Given the description of an element on the screen output the (x, y) to click on. 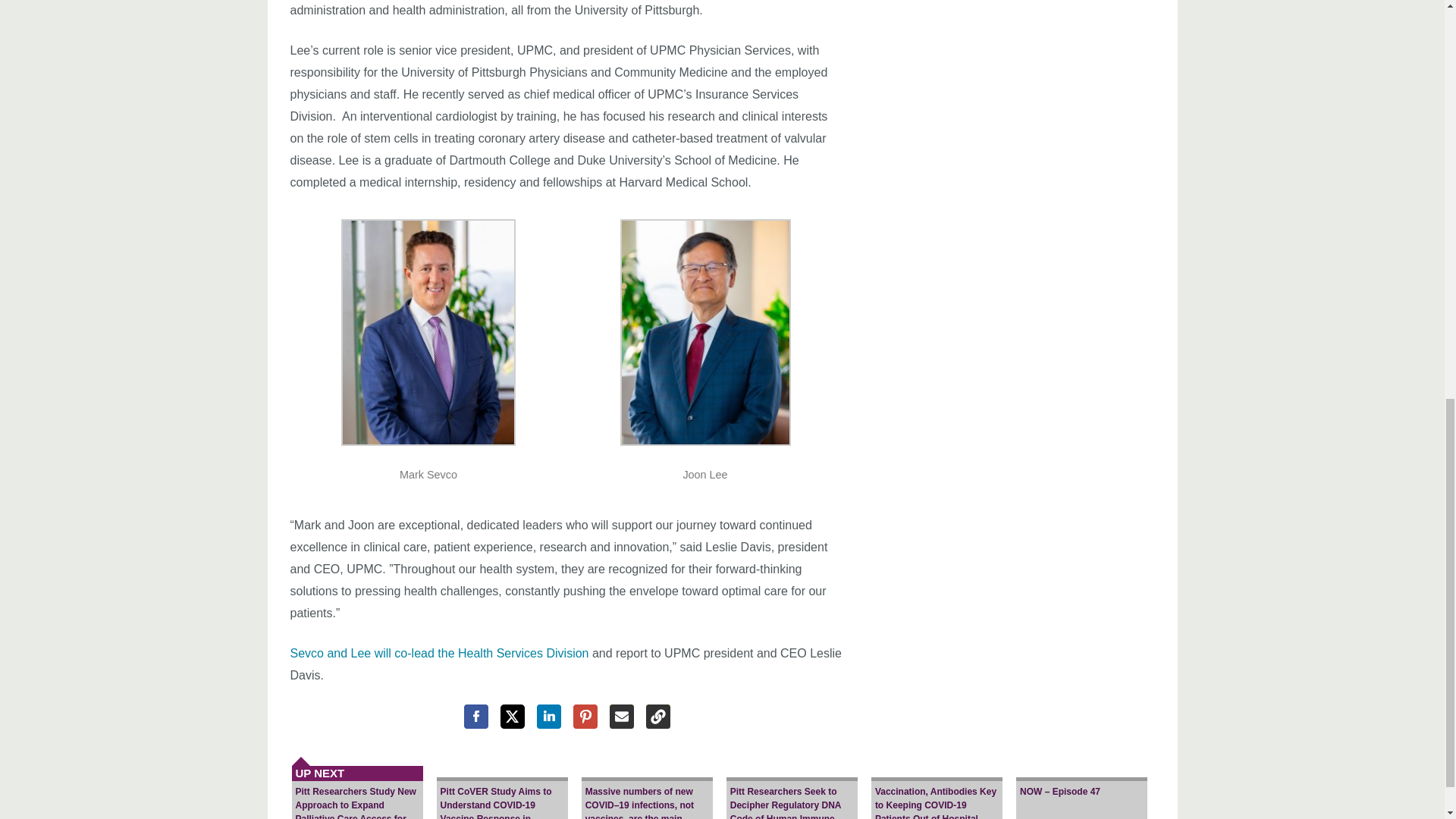
Share on Facebook (475, 716)
Sevco and Lee will co-lead the Health Services Division (438, 653)
Copy to clipboard (657, 716)
Share on Pinterest (584, 716)
Share on LinkedIn (548, 716)
Forward via email (621, 716)
